Given the description of an element on the screen output the (x, y) to click on. 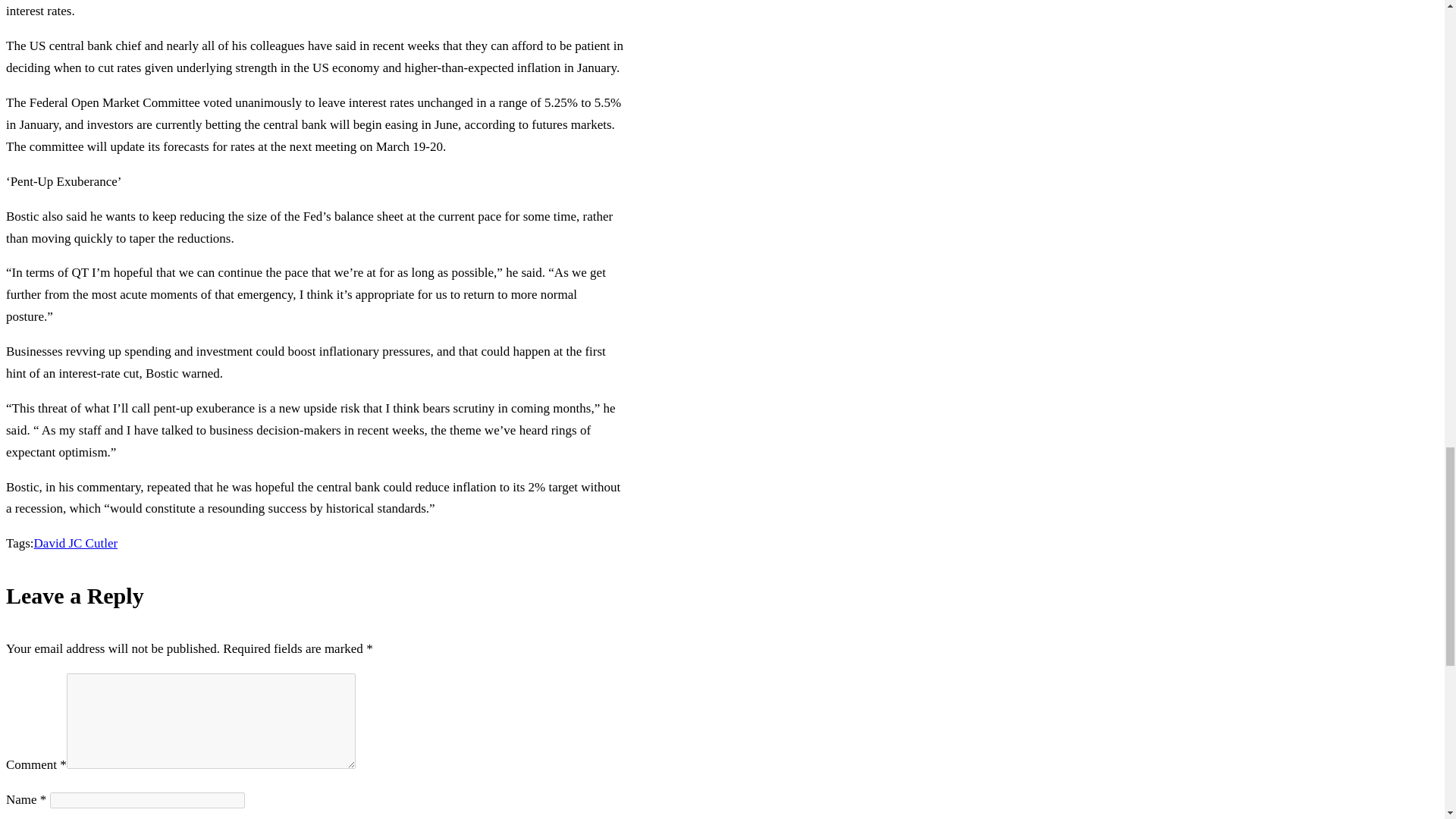
David JC Cutler (75, 543)
David JC Cutler (75, 543)
